Given the description of an element on the screen output the (x, y) to click on. 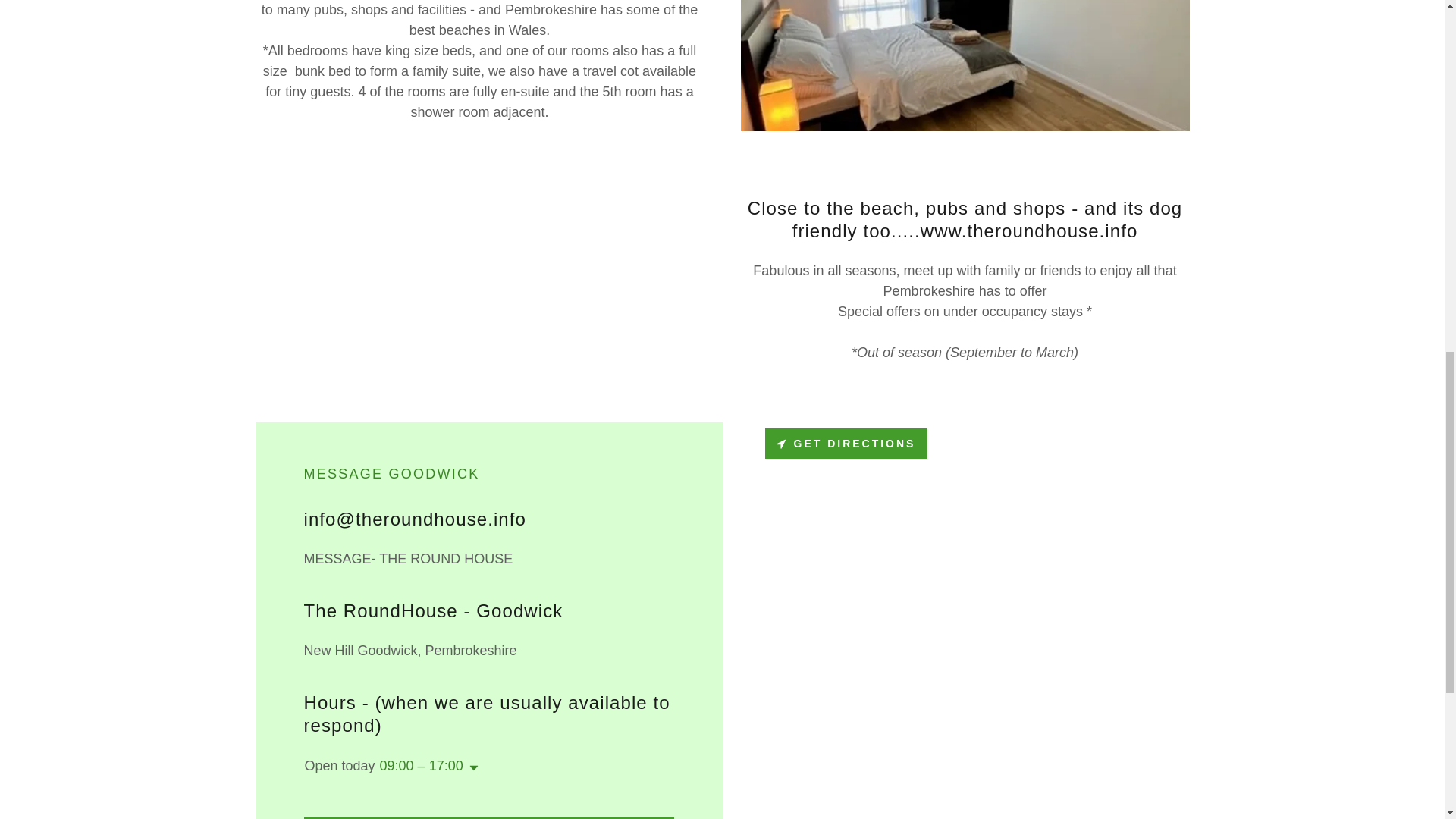
GET DIRECTIONS (845, 443)
